Given the description of an element on the screen output the (x, y) to click on. 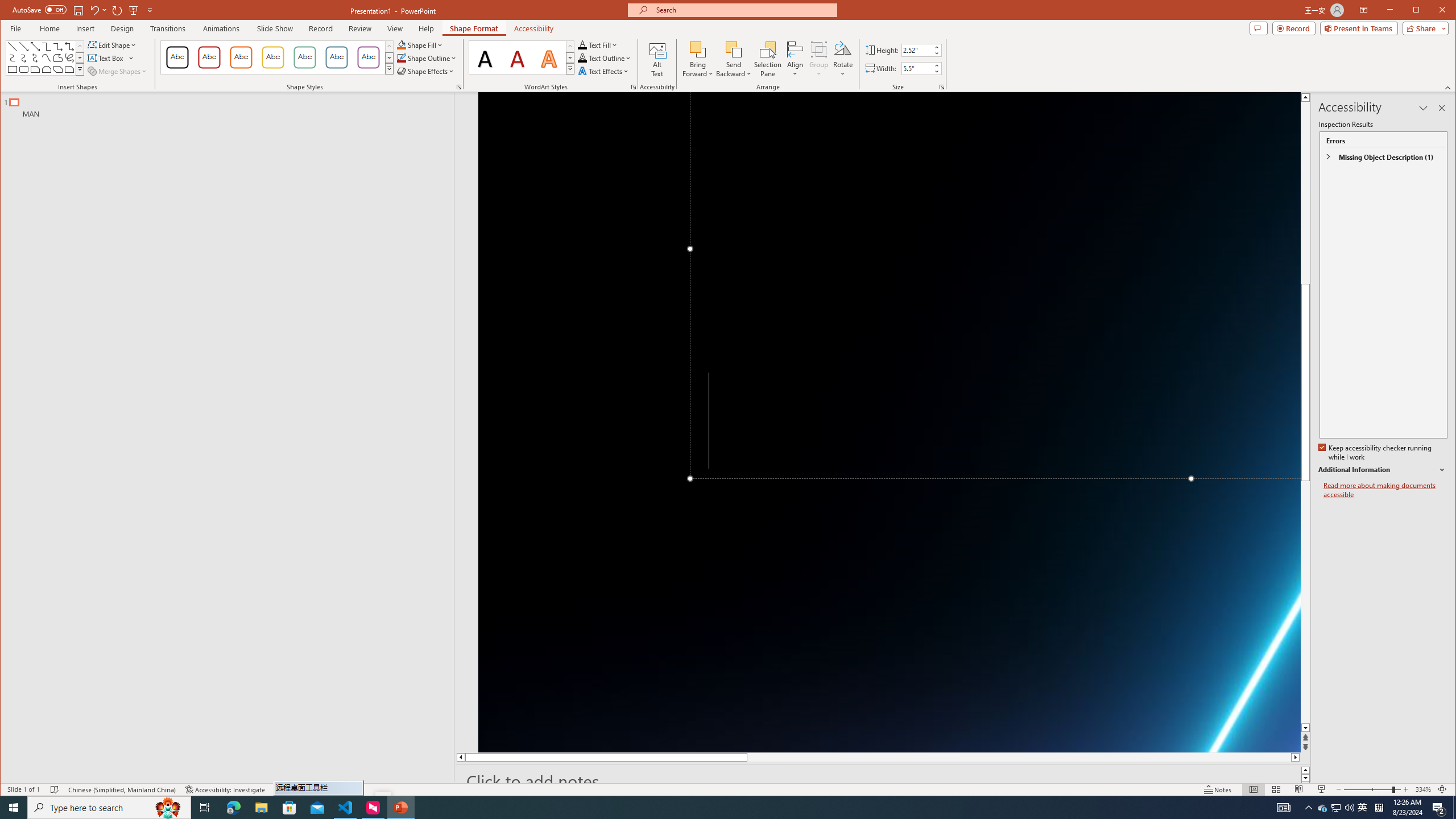
Connector: Curved Arrow (23, 57)
Shape Width (916, 68)
Connector: Curved Double-Arrow (34, 57)
Rectangle: Diagonal Corners Snipped (58, 69)
